Given the description of an element on the screen output the (x, y) to click on. 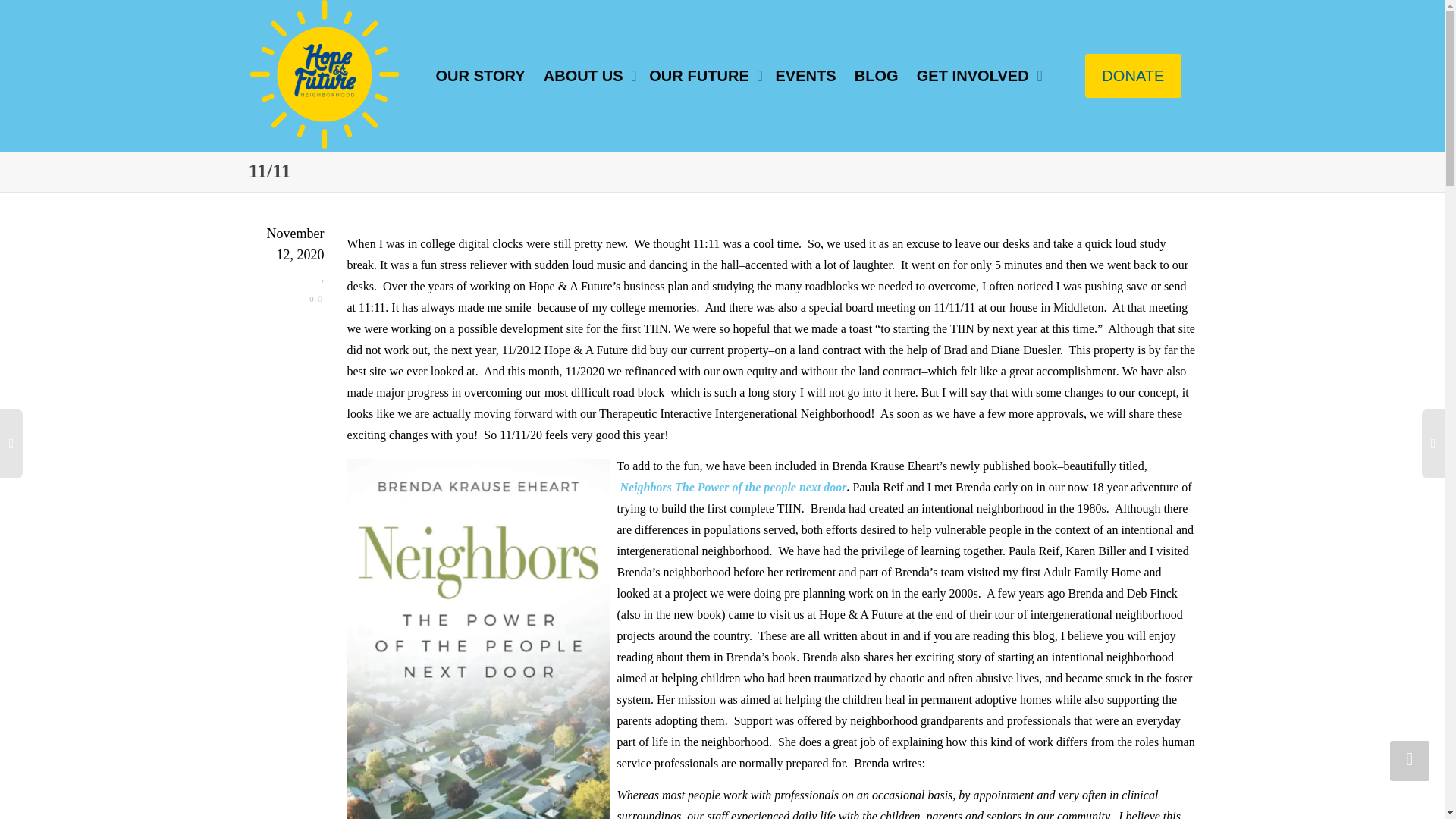
DONATE (1132, 76)
Neighbors The Power of the people next door (733, 486)
November 12, 2020 (286, 256)
0 (315, 298)
